Given the description of an element on the screen output the (x, y) to click on. 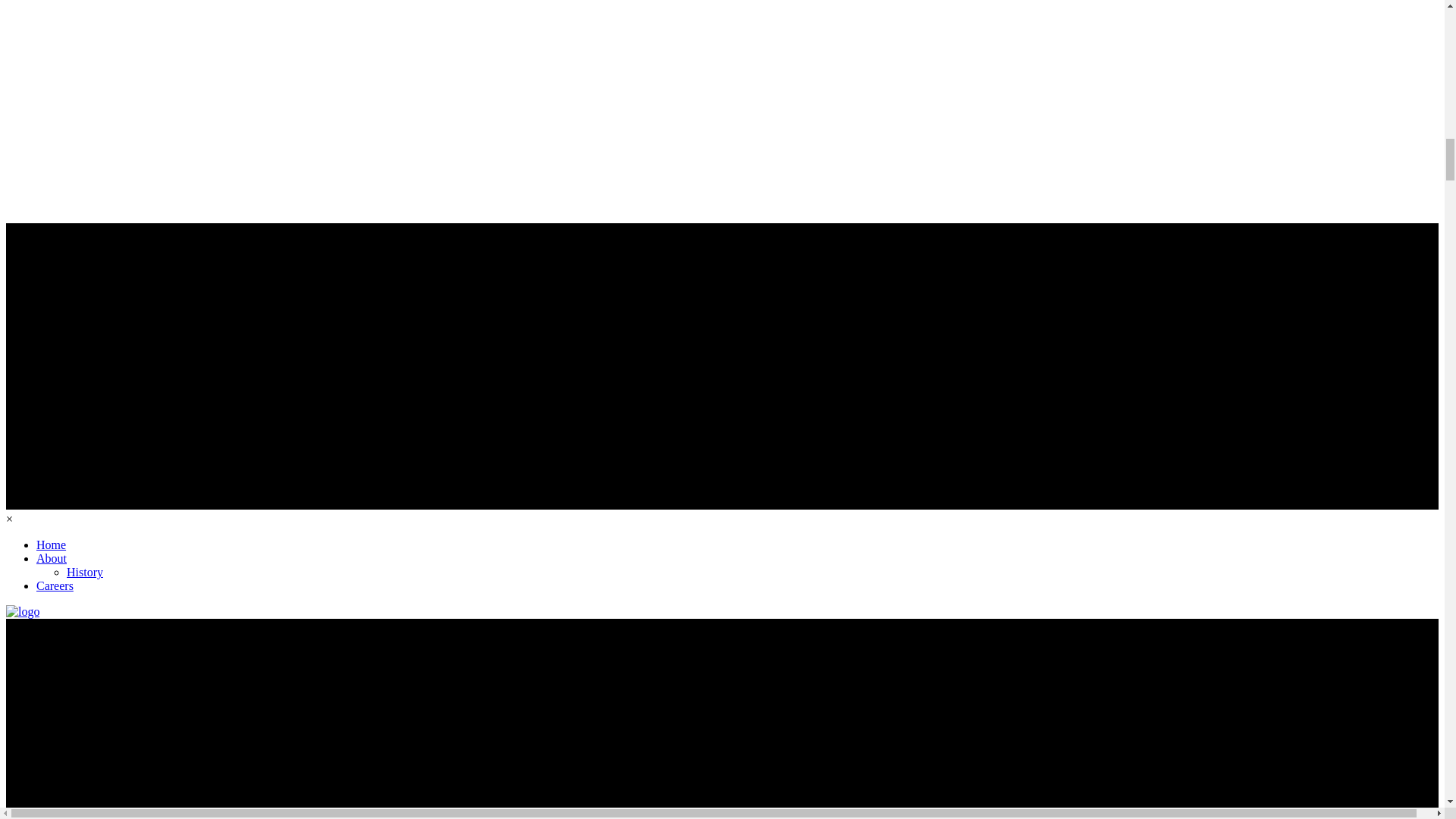
About (51, 558)
Careers (55, 585)
History (84, 571)
The George Sollitt Construction Company (22, 612)
Home (50, 544)
